Given the description of an element on the screen output the (x, y) to click on. 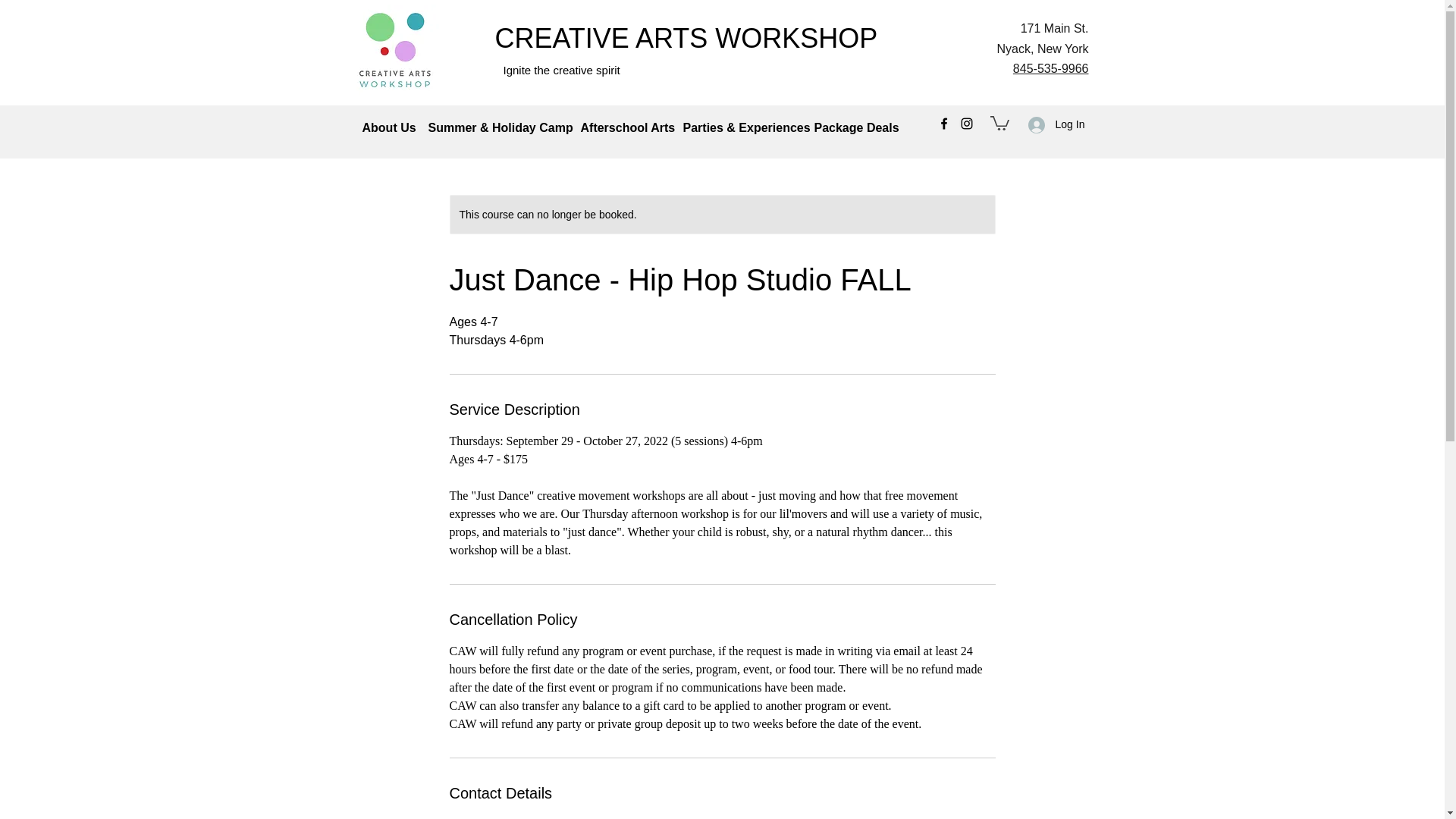
Log In (1050, 124)
845-535-9966 (1051, 68)
Package Deals (853, 128)
